Given the description of an element on the screen output the (x, y) to click on. 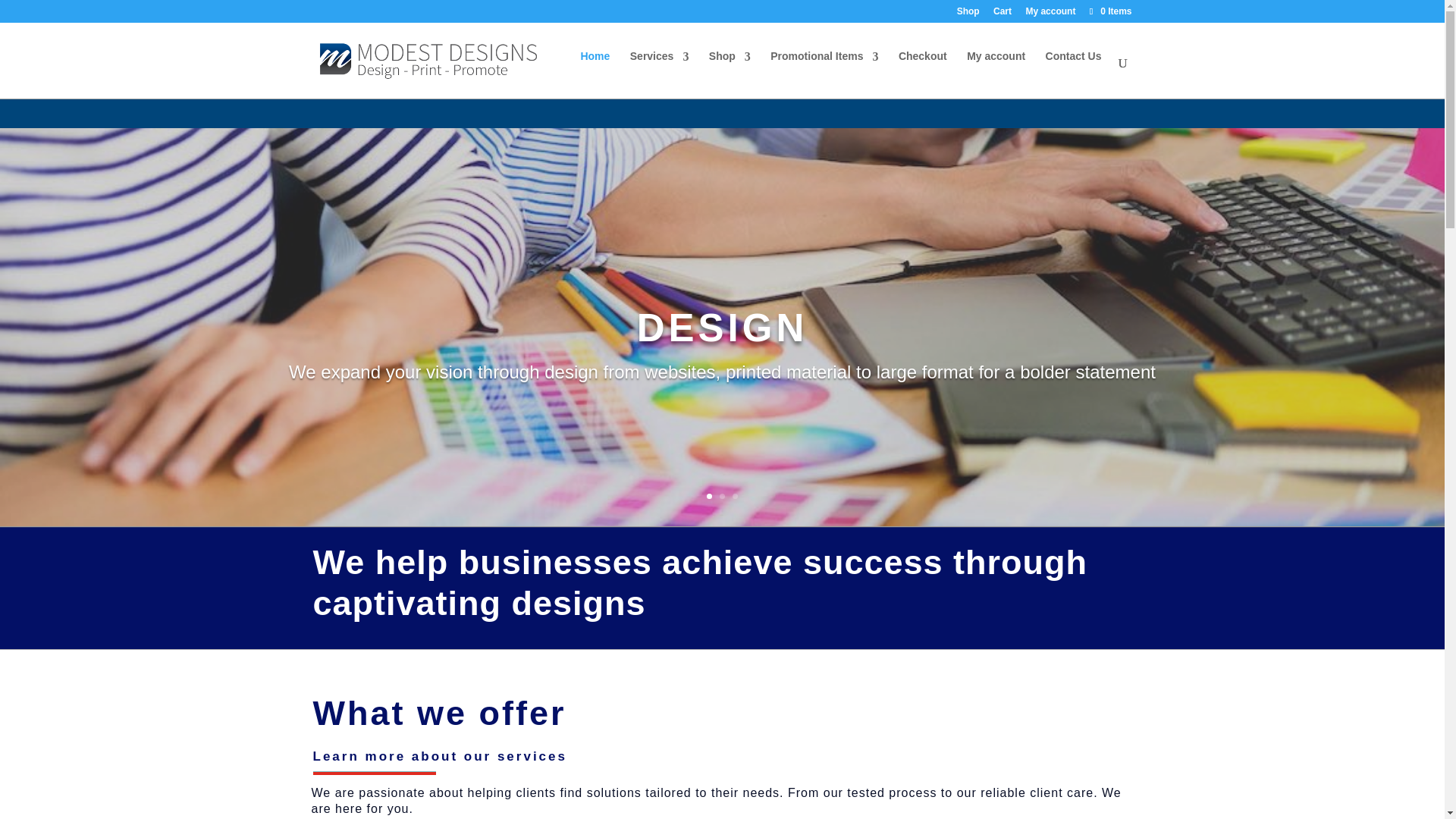
Contact Us (1073, 72)
0 Items (1108, 10)
Shop (967, 14)
Checkout (922, 72)
Cart (1001, 14)
Promotional Items (823, 72)
My account (1050, 14)
Services (659, 72)
My account (995, 72)
